Given the description of an element on the screen output the (x, y) to click on. 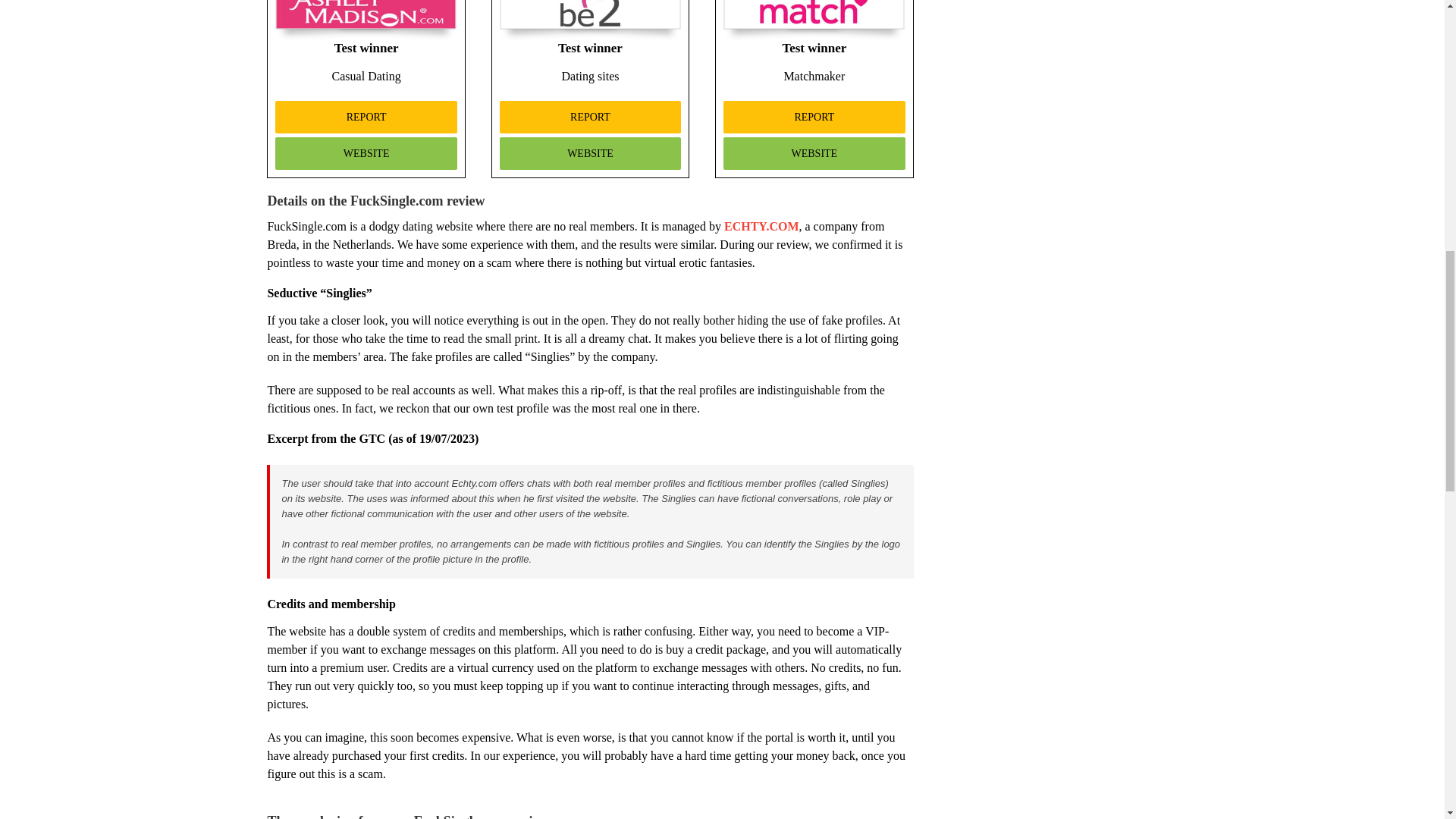
Report (813, 116)
Report (366, 116)
Website (366, 153)
Website (590, 153)
Website (813, 153)
Report (590, 116)
